Given the description of an element on the screen output the (x, y) to click on. 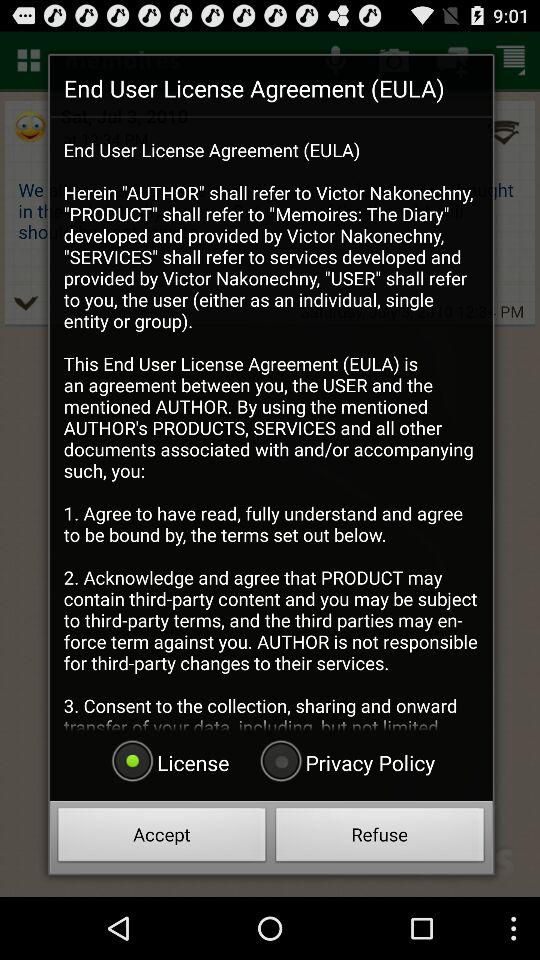
tap app below end user license app (345, 762)
